Given the description of an element on the screen output the (x, y) to click on. 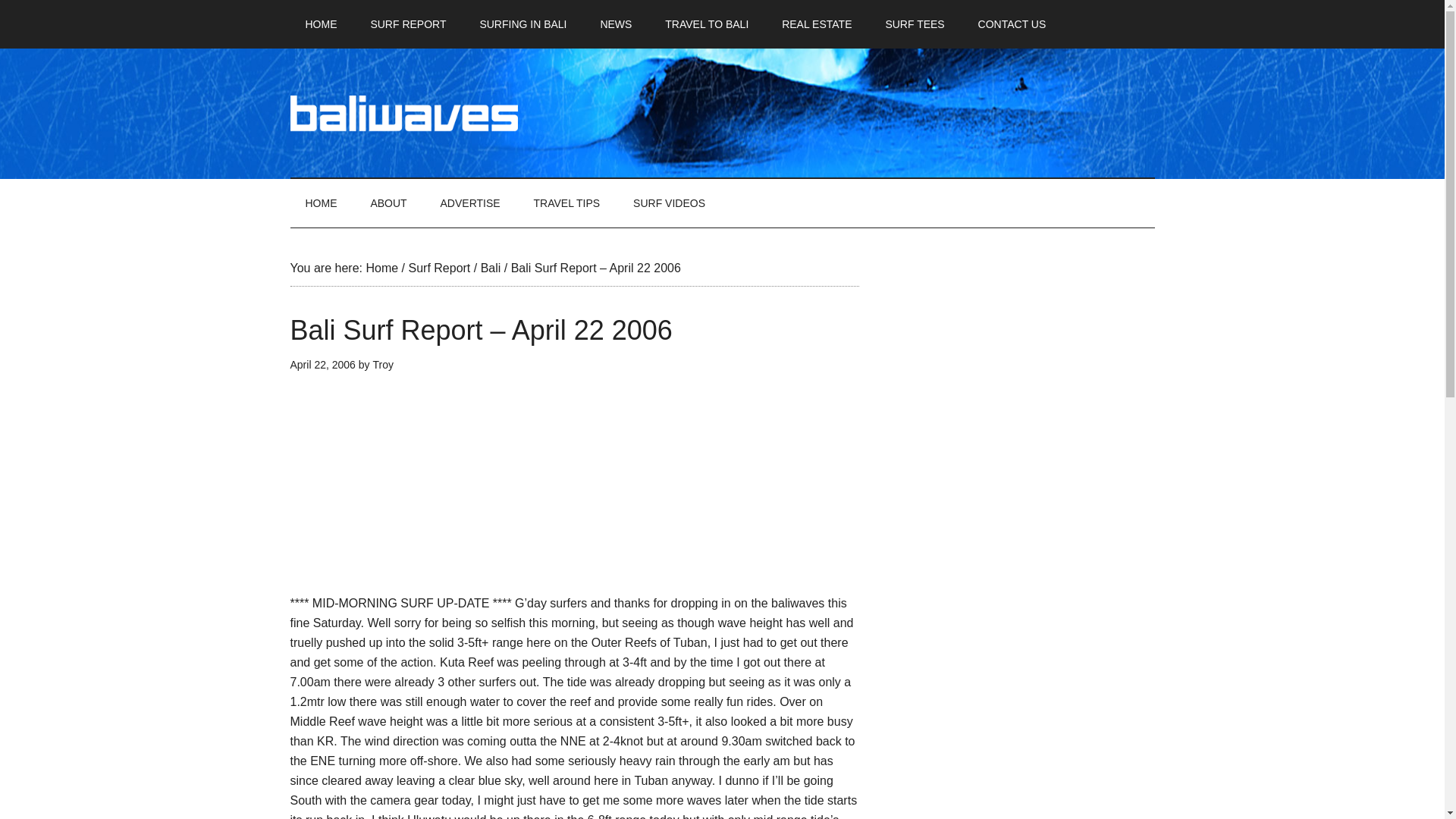
SURF REPORT (408, 24)
SURFING IN BALI (522, 24)
HOME (320, 24)
NEWS (615, 24)
